Given the description of an element on the screen output the (x, y) to click on. 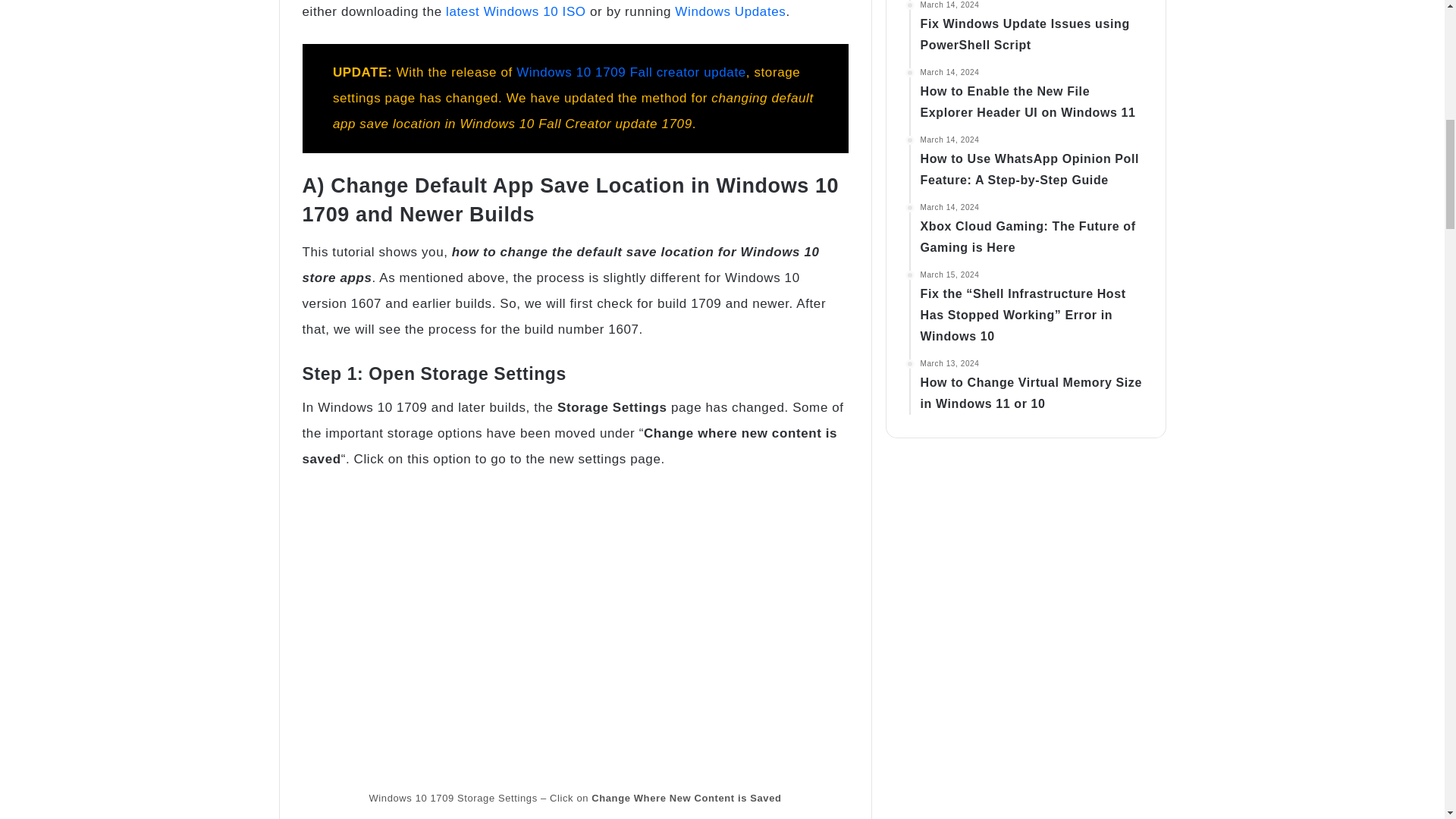
Contact Us (66, 183)
Windows Server 2012 (155, 24)
Messenger (192, 599)
Editorial Staff (43, 572)
How To (66, 508)
Messenger (253, 599)
Facebook (33, 599)
Publish Article (76, 130)
Windows 11 (68, 77)
Telegram (366, 599)
Windows 10 1709 Fall creator update (282, 761)
Search for (206, 249)
latest Windows 10 ISO (202, 722)
LinkedIn (97, 599)
Home (21, 508)
